Given the description of an element on the screen output the (x, y) to click on. 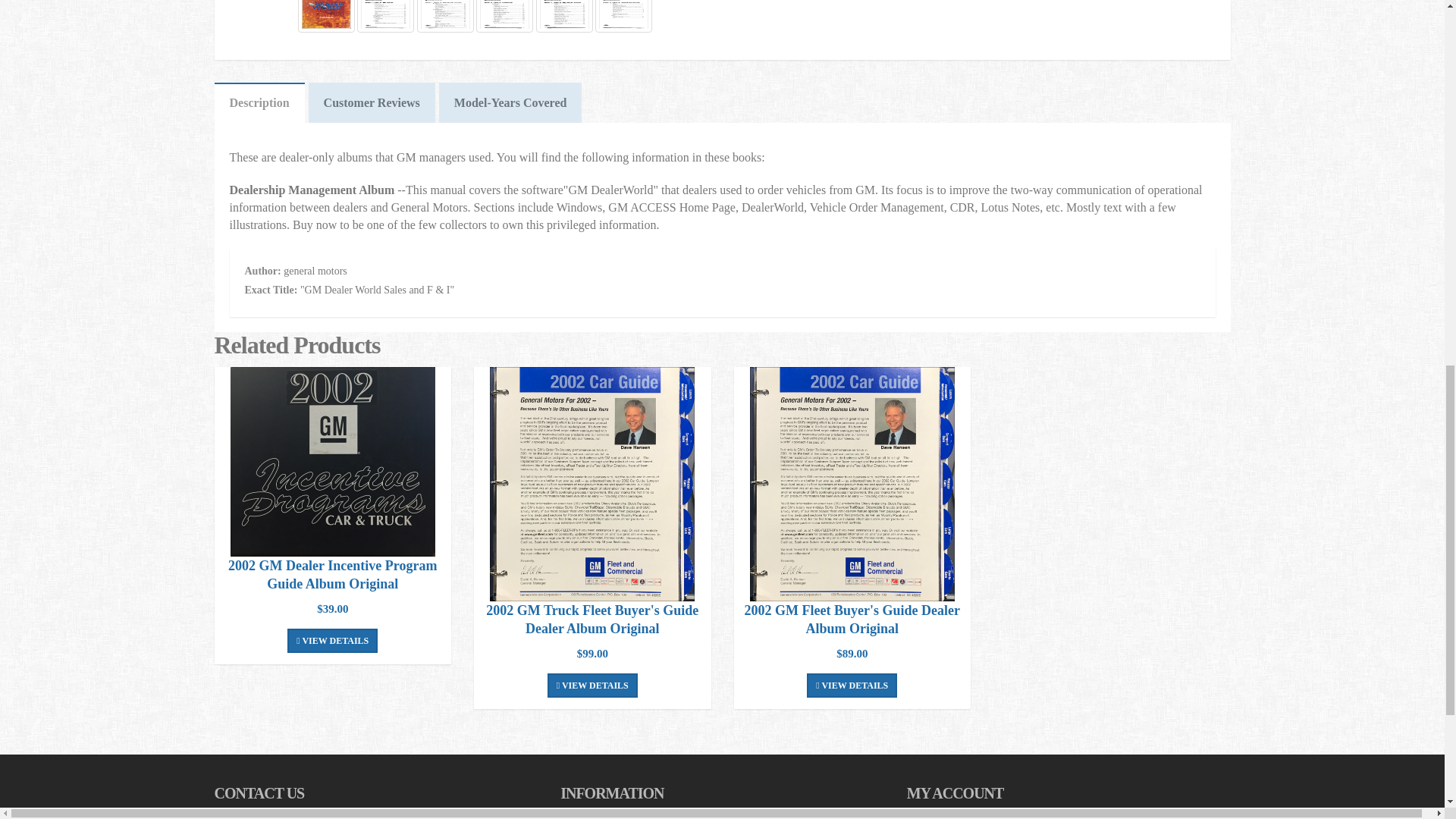
Description (259, 102)
Model-Years Covered (510, 102)
2005 Nissan Maxima CD-ROM Repair Manual  (332, 461)
Customer Reviews (371, 102)
